Given the description of an element on the screen output the (x, y) to click on. 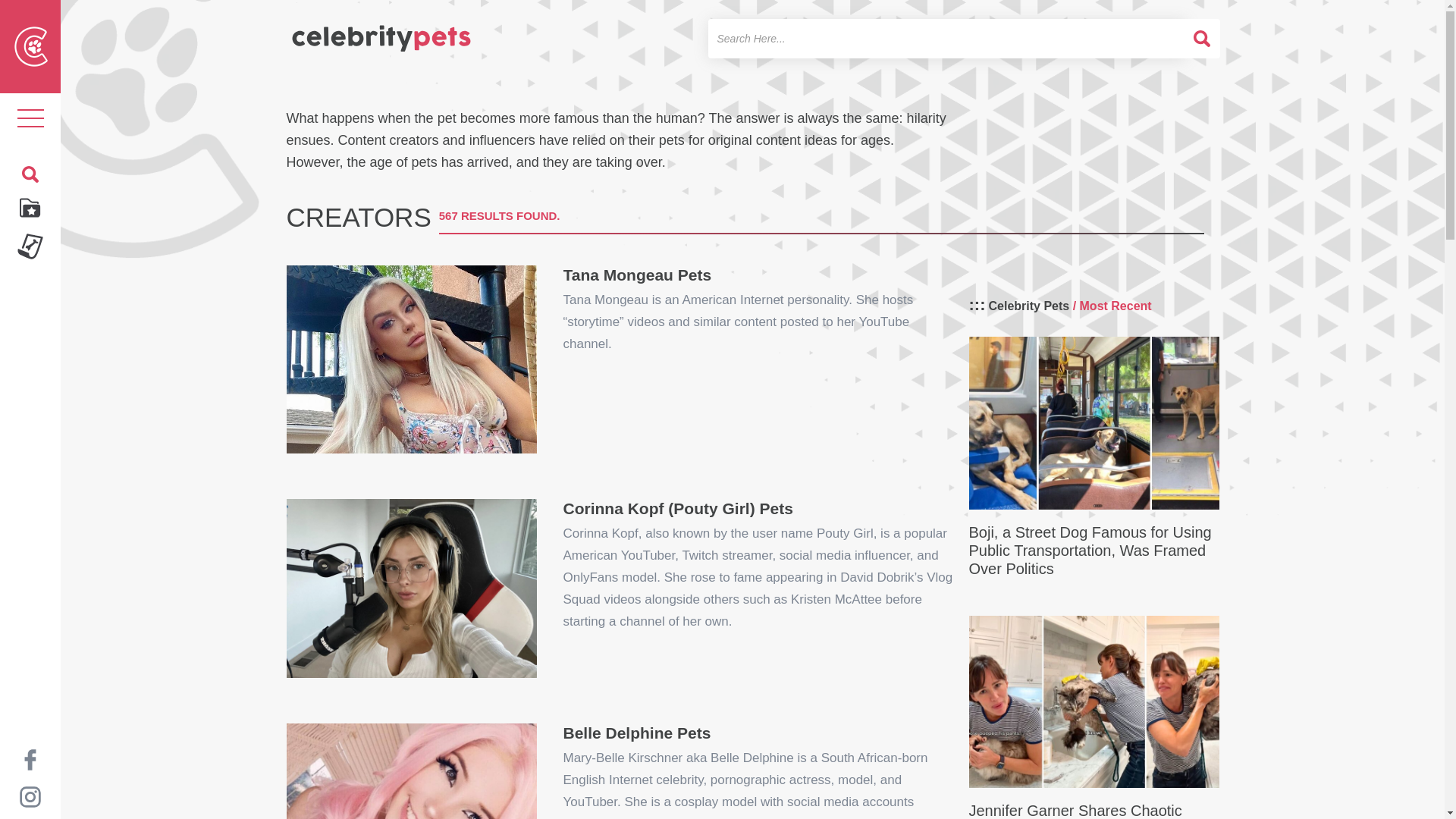
Celebrity Pets on Facebook (29, 758)
Toggle navigation (29, 117)
Celebrty Pets Icon (31, 45)
Celebrty Pets (381, 32)
Belle Delphine Pets (636, 725)
Tana Mongeau Pets (636, 266)
Celebrity Pets on Instagram (29, 795)
Tana Mongeau Pets (411, 359)
Belle Delphine Pets (411, 771)
Search for (946, 38)
